Given the description of an element on the screen output the (x, y) to click on. 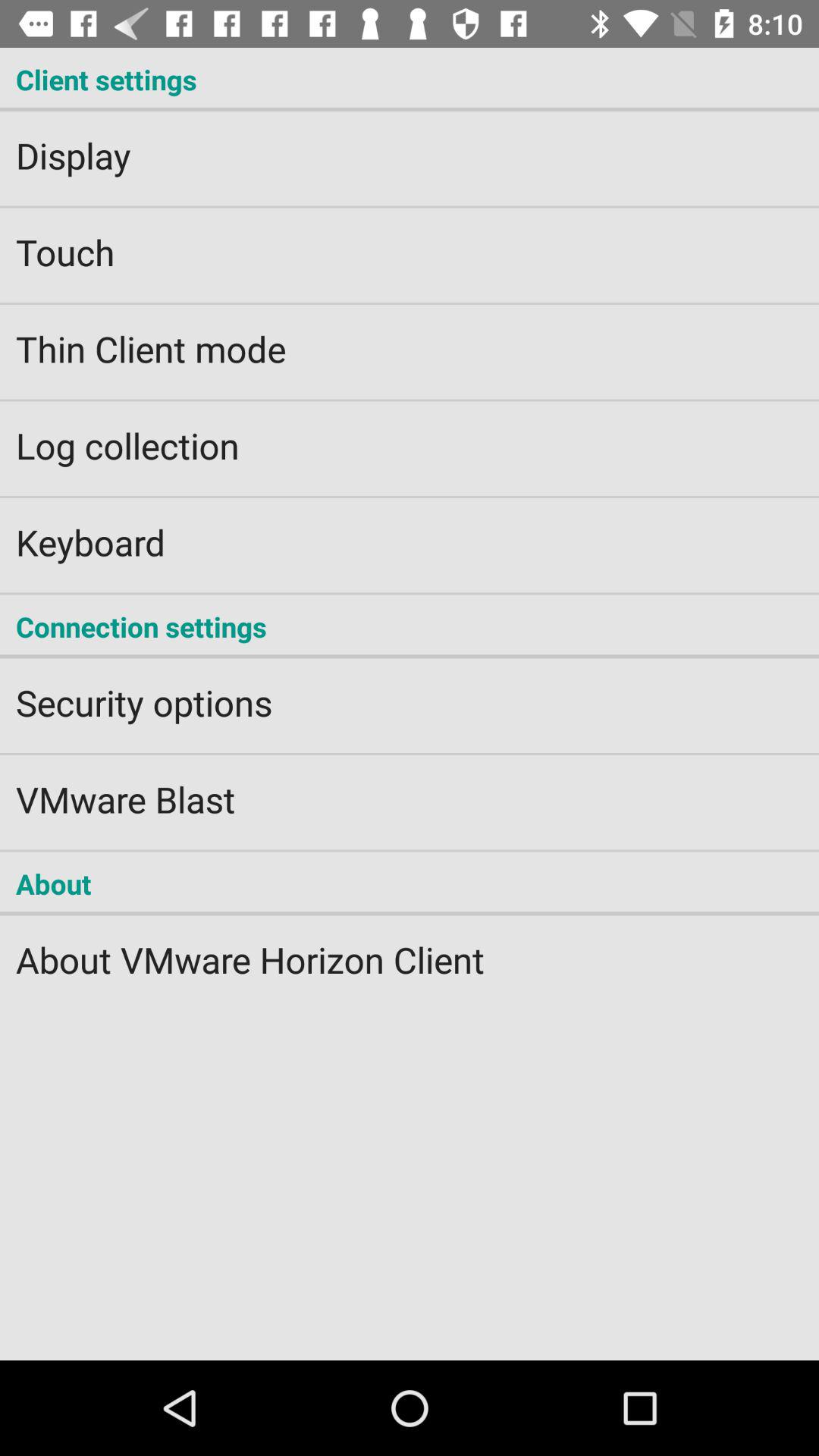
press the display icon (409, 145)
